Given the description of an element on the screen output the (x, y) to click on. 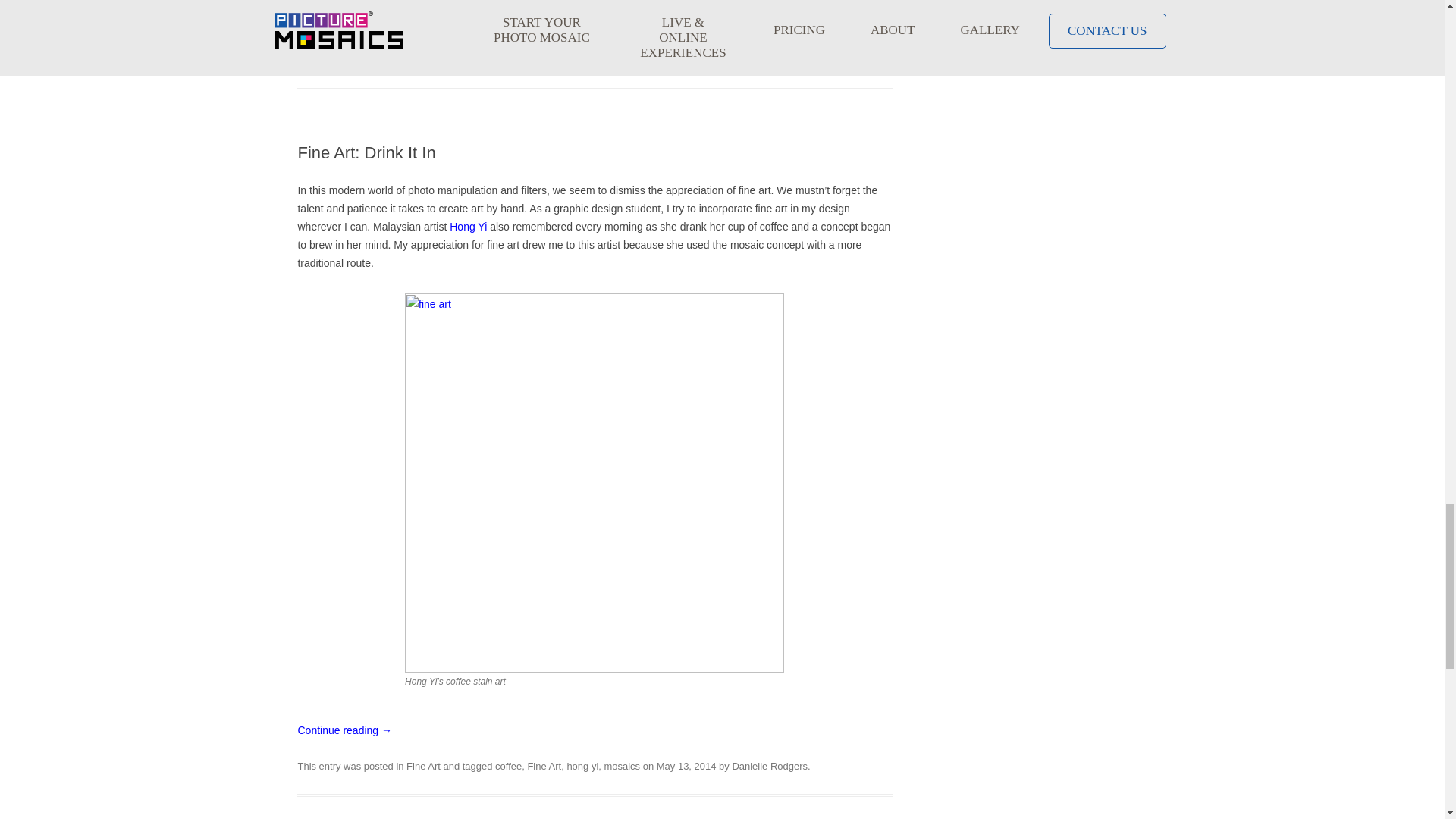
About: Hong Yi (467, 226)
View all posts by Danielle Rodgers (334, 57)
4:13 PM (686, 766)
4:17 PM (823, 39)
